Given the description of an element on the screen output the (x, y) to click on. 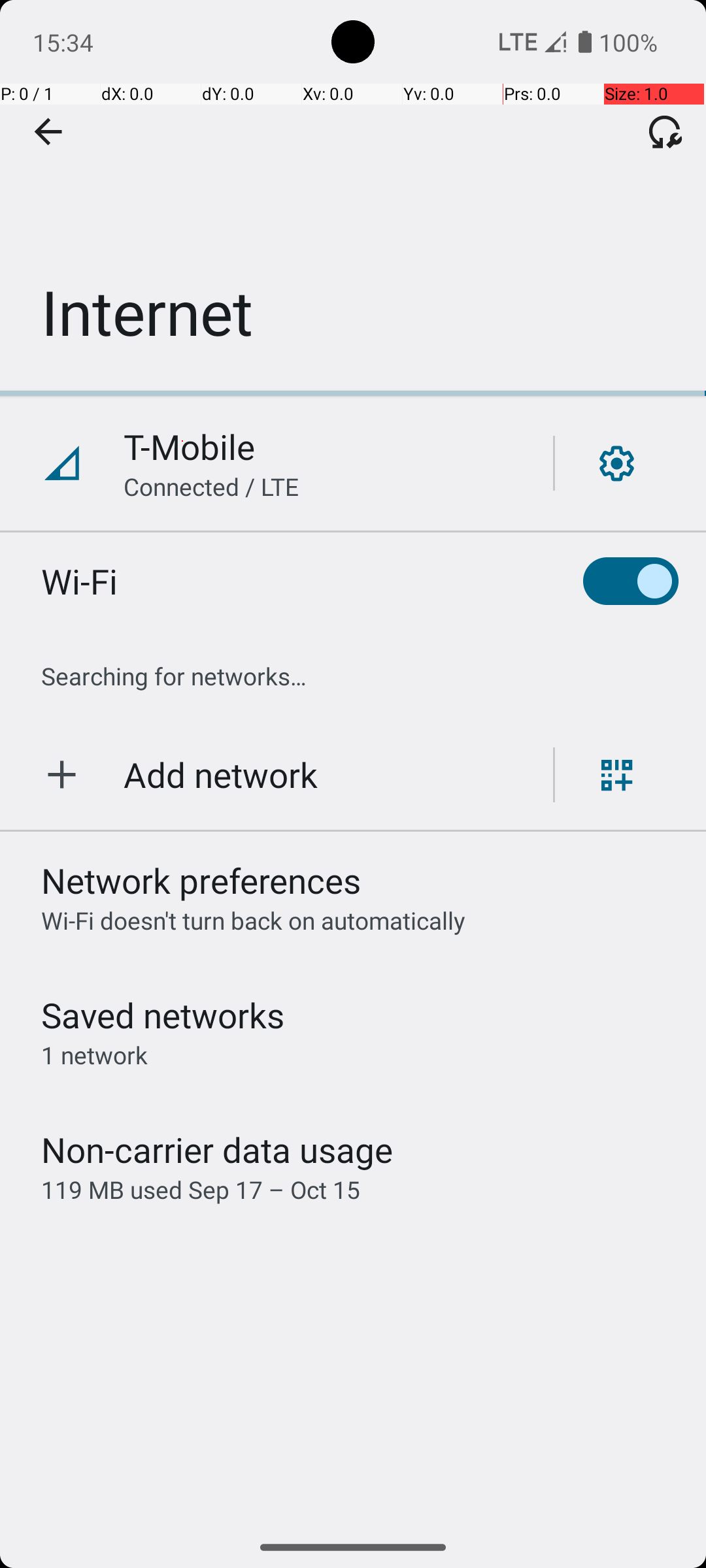
Fix connectivity Element type: android.widget.TextView (664, 131)
Connected / LTE Element type: android.widget.TextView (211, 486)
Wi-Fi Element type: android.widget.TextView (79, 580)
Searching for networks… Element type: android.widget.TextView (173, 675)
Add network Element type: android.widget.TextView (220, 774)
Scan QR code Element type: android.widget.ImageButton (616, 774)
Network preferences Element type: android.widget.TextView (201, 880)
Wi‑Fi doesn't turn back on automatically Element type: android.widget.TextView (253, 919)
Saved networks Element type: android.widget.TextView (163, 1014)
1 network Element type: android.widget.TextView (94, 1054)
Non-carrier data usage Element type: android.widget.TextView (216, 1149)
119 MB used Sep 17 – Oct 15 Element type: android.widget.TextView (200, 1189)
